Given the description of an element on the screen output the (x, y) to click on. 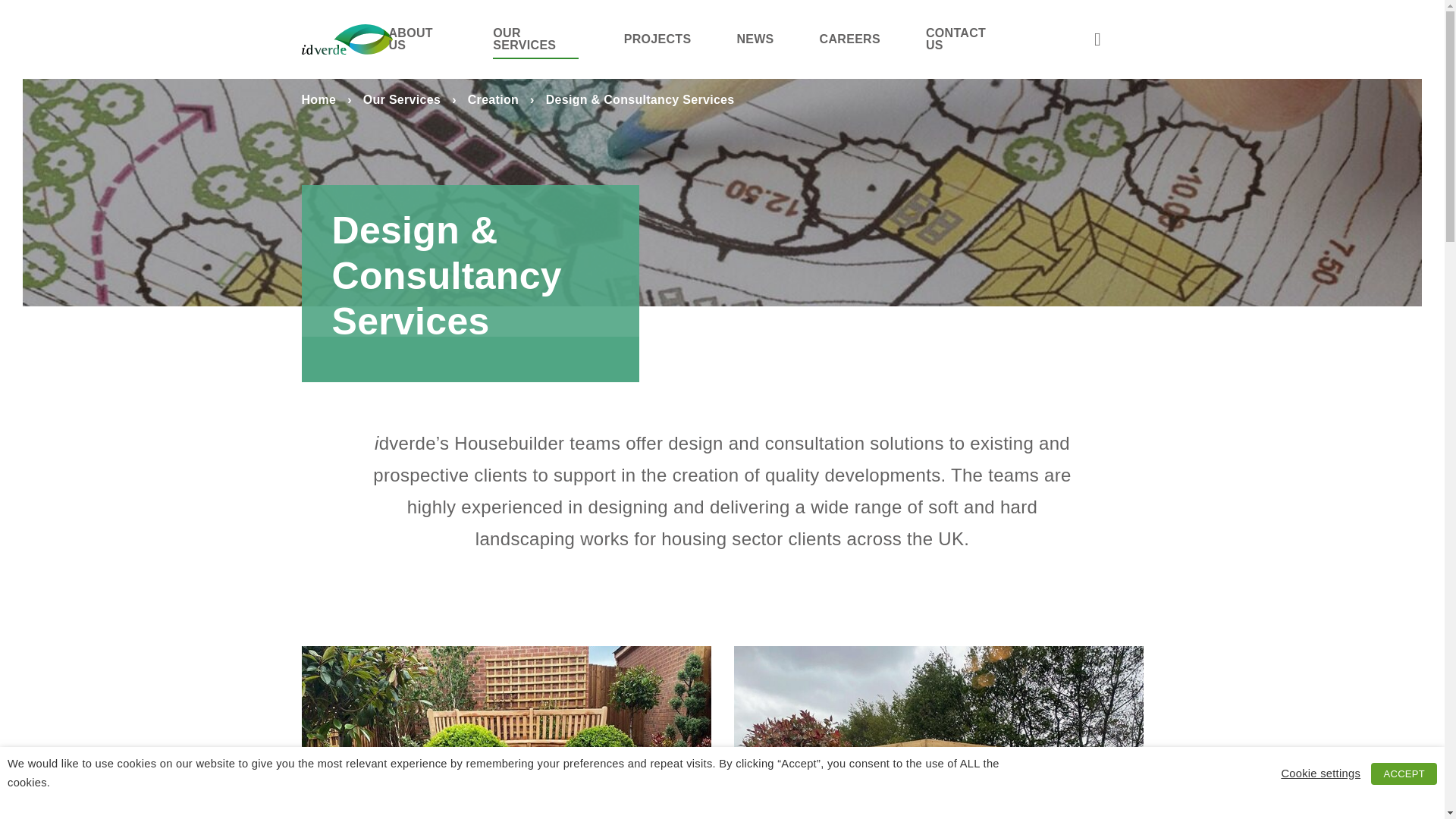
CAREERS (849, 39)
ABOUT US (417, 39)
OUR SERVICES (535, 39)
PROJECTS (657, 39)
CONTACT US (962, 39)
NEWS (754, 39)
Home (318, 99)
